Given the description of an element on the screen output the (x, y) to click on. 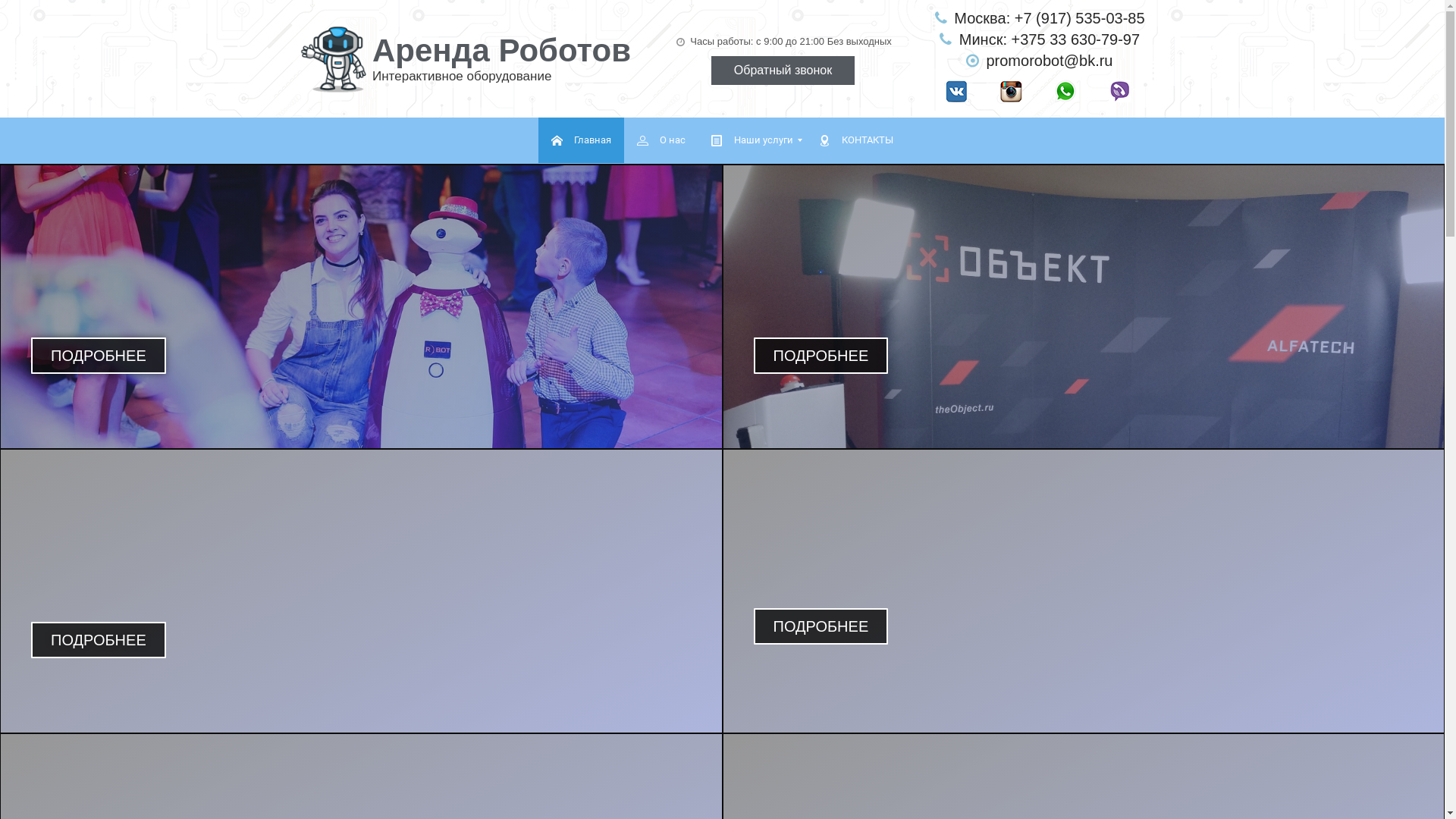
0 Element type: hover (334, 58)
